Given the description of an element on the screen output the (x, y) to click on. 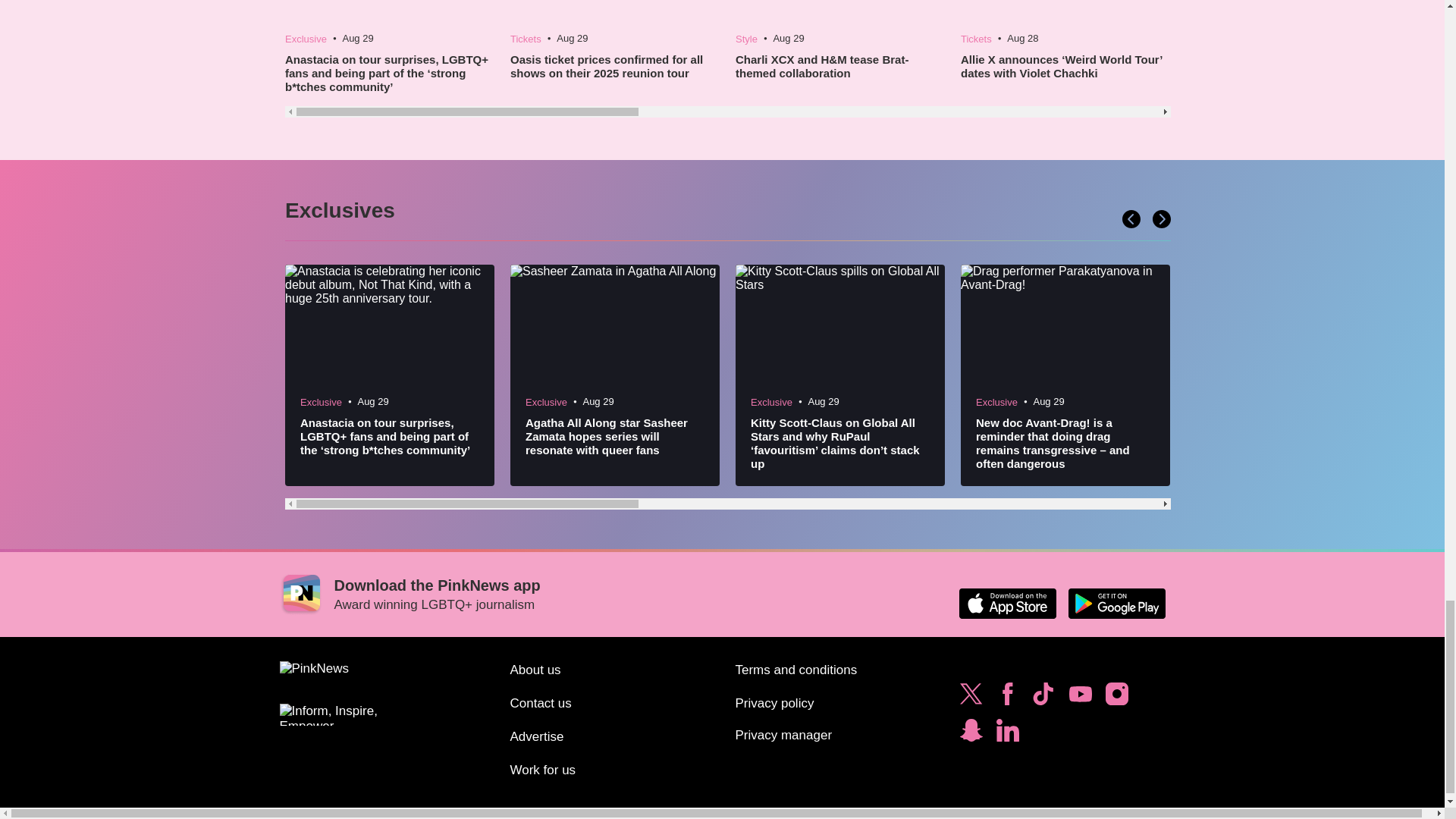
Download the PinkNews app on the Apple App Store (1006, 603)
Subscribe to PinkNews on YouTube (1079, 697)
Subscribe to PinkNews on Snapchat (970, 733)
Follow PinkNews on Instagram (1116, 697)
Download the PinkNews app on Google Play (1115, 603)
Follow PinkNews on LinkedIn (1007, 733)
Follow PinkNews on Twitter (970, 697)
Follow PinkNews on TikTok (1042, 697)
